Given the description of an element on the screen output the (x, y) to click on. 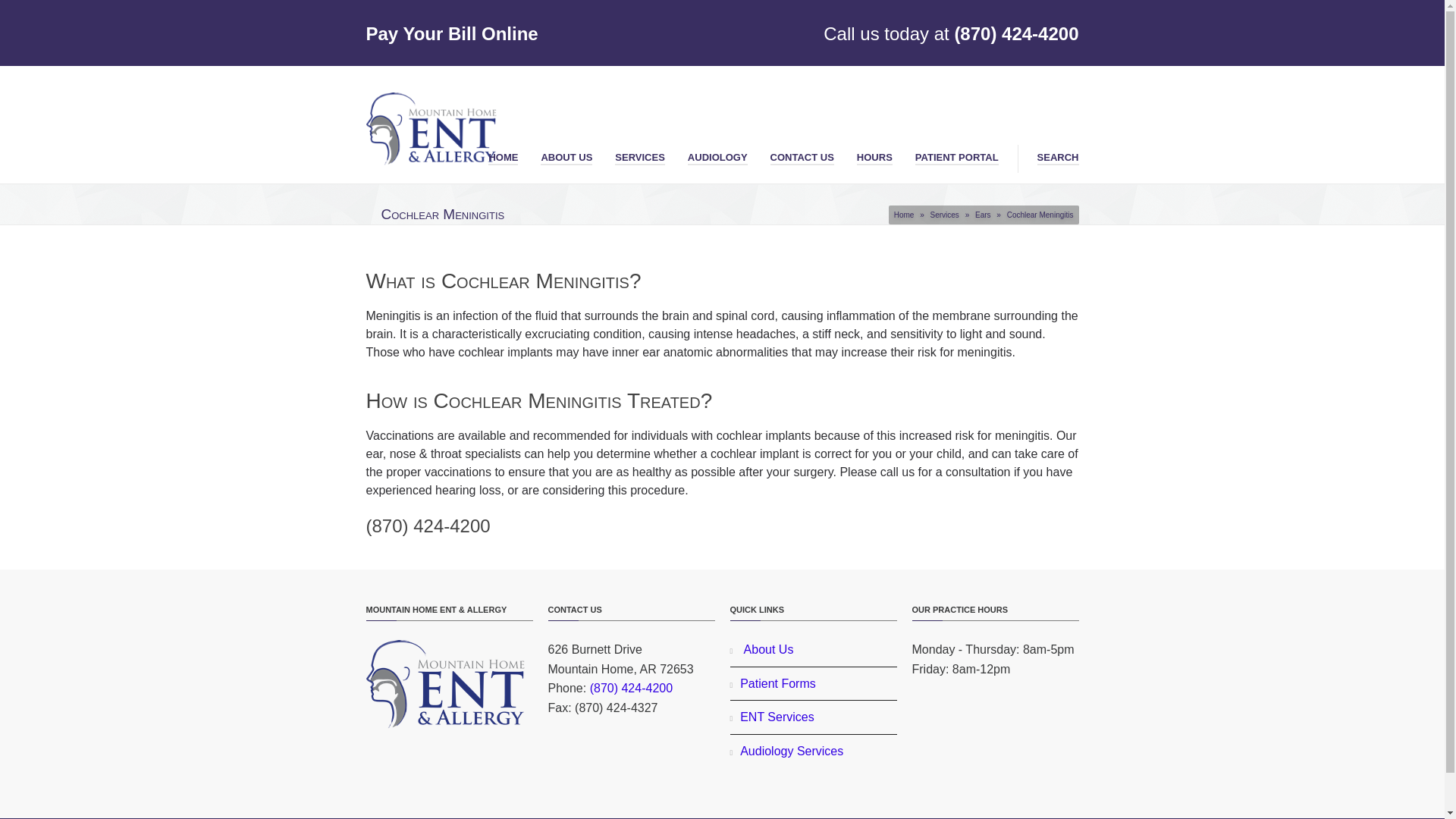
Ears (983, 214)
SERVICES (639, 154)
HOME (502, 154)
ABOUT US (566, 154)
Services (944, 214)
Pay Your Bill Online (451, 33)
